Given the description of an element on the screen output the (x, y) to click on. 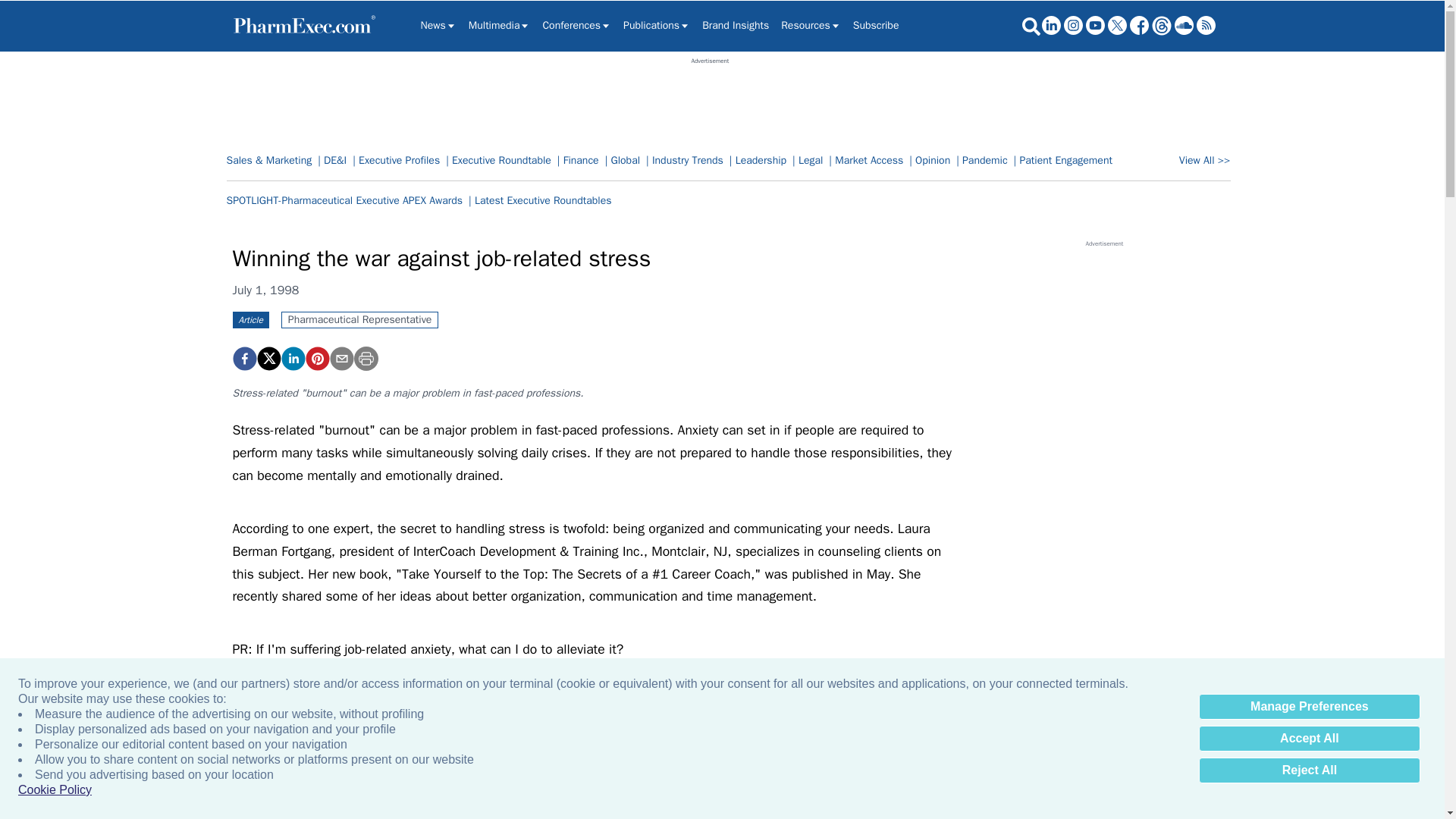
Winning the war against job-related stress (243, 358)
Reject All (1309, 769)
Winning the war against job-related stress (316, 358)
Subscribe (876, 25)
Brand Insights (734, 25)
Accept All (1309, 738)
Cookie Policy (54, 789)
3rd party ad content (709, 99)
Manage Preferences (1309, 706)
